Given the description of an element on the screen output the (x, y) to click on. 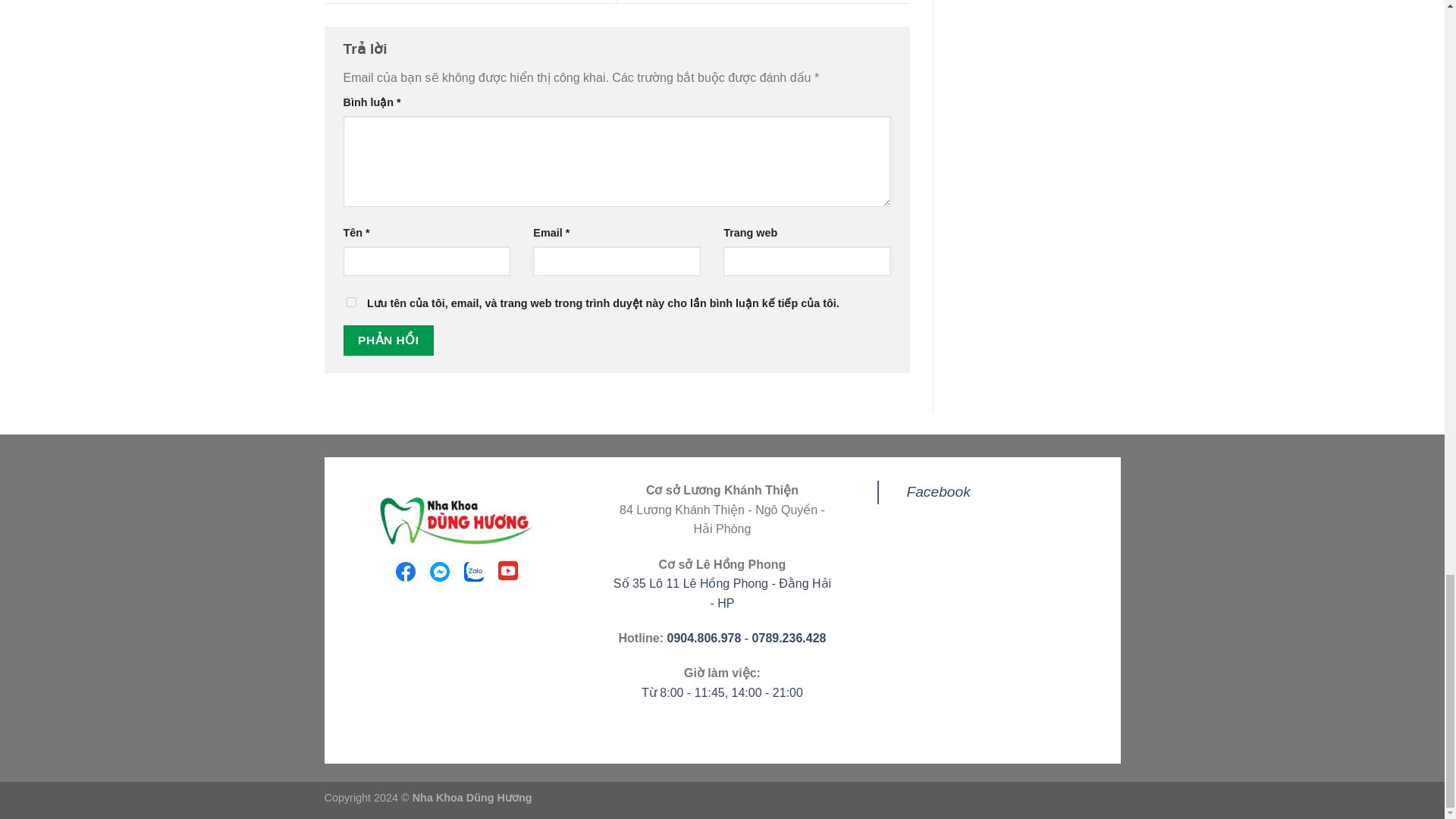
yes (350, 302)
